Given the description of an element on the screen output the (x, y) to click on. 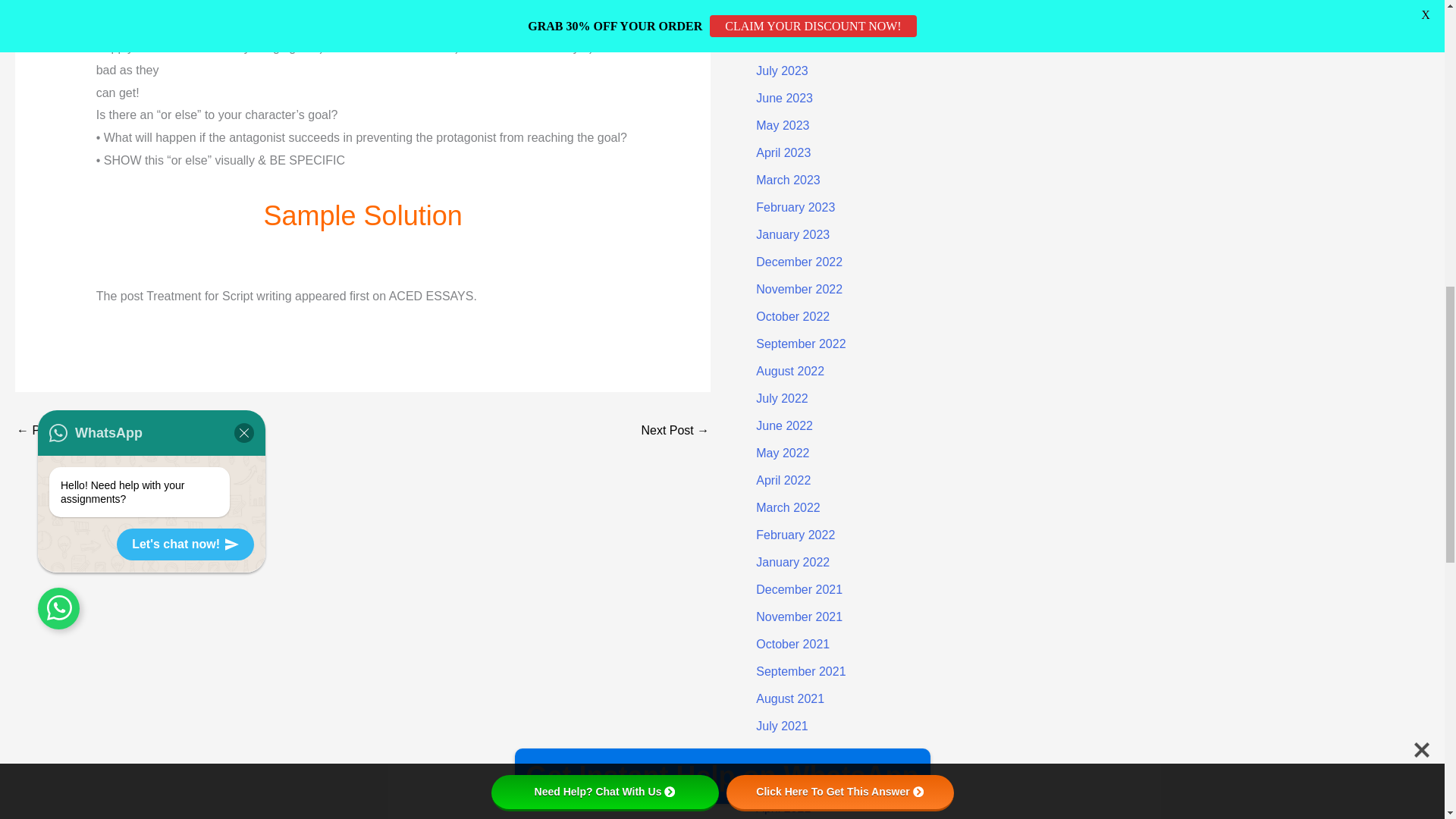
Applying and Sharing (61, 431)
July 2023 (781, 70)
June 2023 (783, 97)
September 2023 (800, 15)
August 2023 (789, 42)
February 2023 (794, 206)
January 2023 (792, 234)
March 2023 (788, 179)
April 2023 (782, 152)
November 2022 (799, 288)
December 2022 (799, 261)
May 2023 (782, 124)
